Given the description of an element on the screen output the (x, y) to click on. 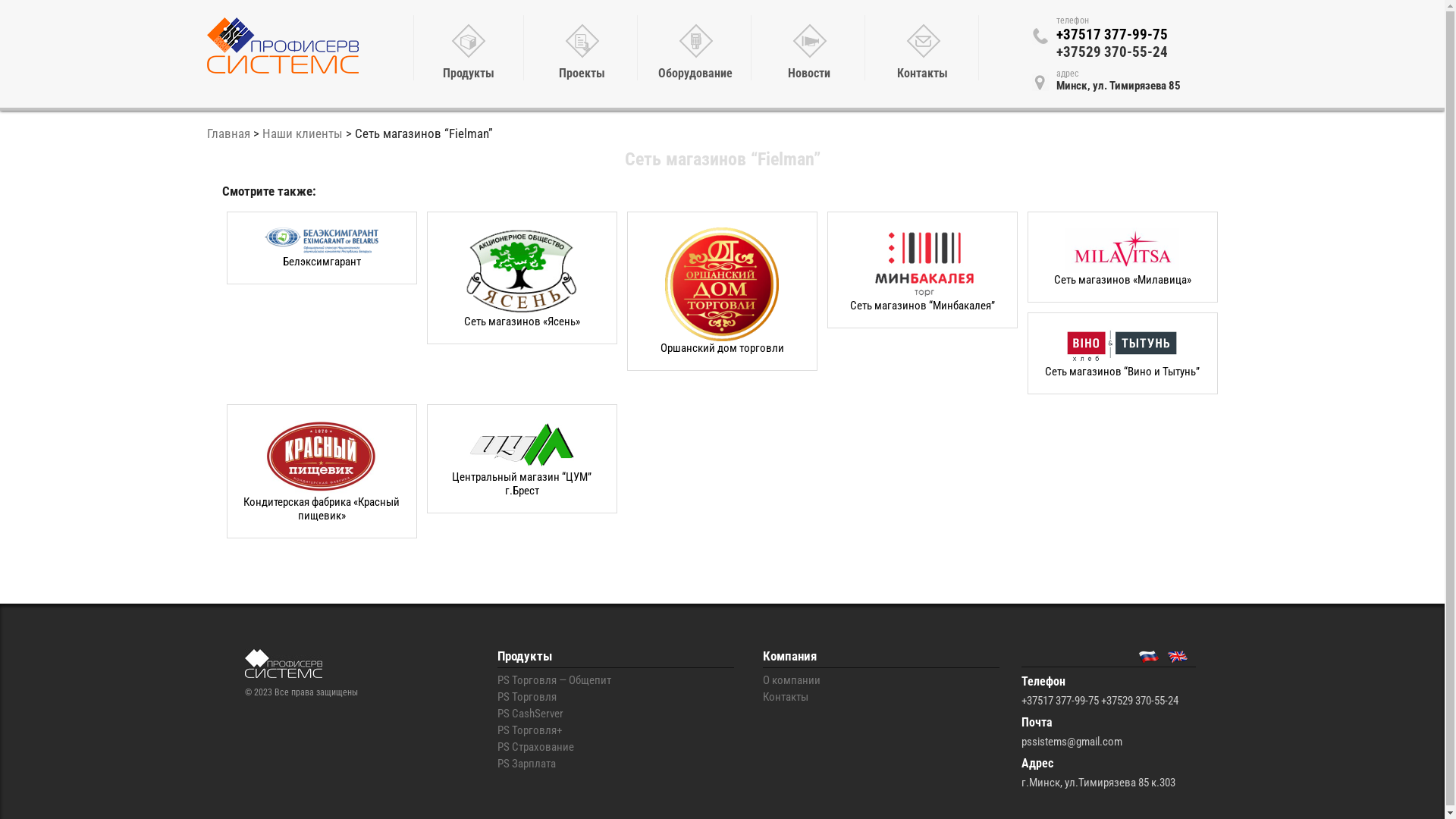
+37517 377-99-75 Element type: text (1111, 34)
PS CashServer Element type: text (530, 713)
